Given the description of an element on the screen output the (x, y) to click on. 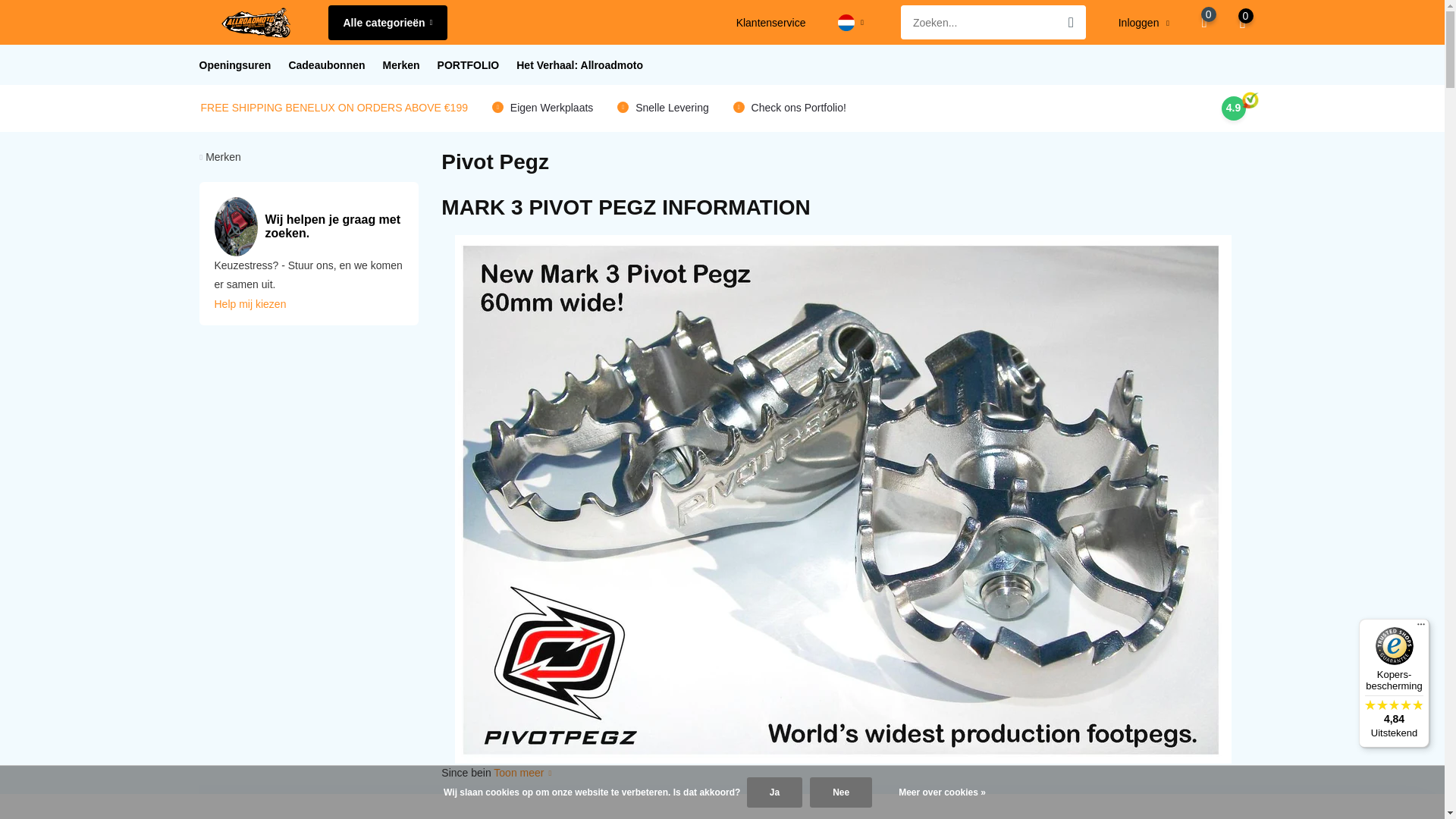
Merken (401, 65)
Het Verhaal: Allroadmoto (579, 65)
PORTFOLIO (468, 65)
Cadeaubonnen (326, 65)
Openingsuren (234, 65)
